Given the description of an element on the screen output the (x, y) to click on. 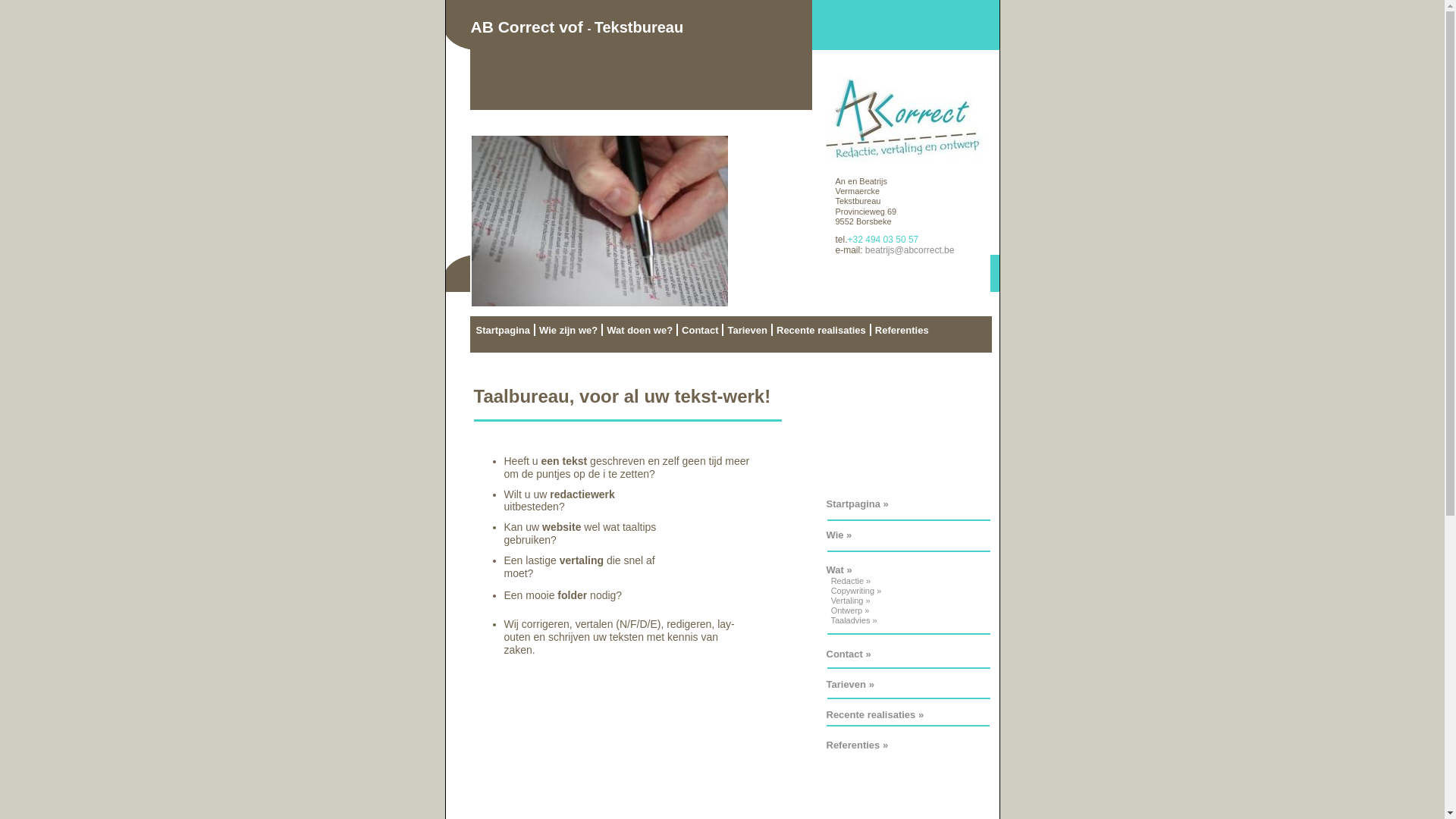
Referenties Element type: text (853, 744)
Wie zijn we? Element type: text (568, 329)
Tarieven Element type: text (747, 329)
Recente realisaties Element type: text (820, 329)
Wat doen we? Element type: text (639, 329)
Redactie Element type: text (847, 580)
Ontwerp Element type: text (846, 610)
   Element type: text (828, 580)
Referenties Element type: text (901, 329)
Copywriting Element type: text (852, 590)
Contact Element type: text (699, 329)
Startpagina Element type: text (502, 329)
Tarieven Element type: text (846, 684)
beatrijs@abcorrect.be Element type: text (909, 249)
   Element type: text (828, 619)
   Element type: text (828, 600)
AB Correct vof - Tekstbureau Element type: text (641, 54)
   Element type: text (828, 610)
   Element type: text (828, 590)
Contact Element type: text (844, 653)
Vertaling Element type: text (847, 600)
Recente realisaties Element type: text (871, 714)
